Given the description of an element on the screen output the (x, y) to click on. 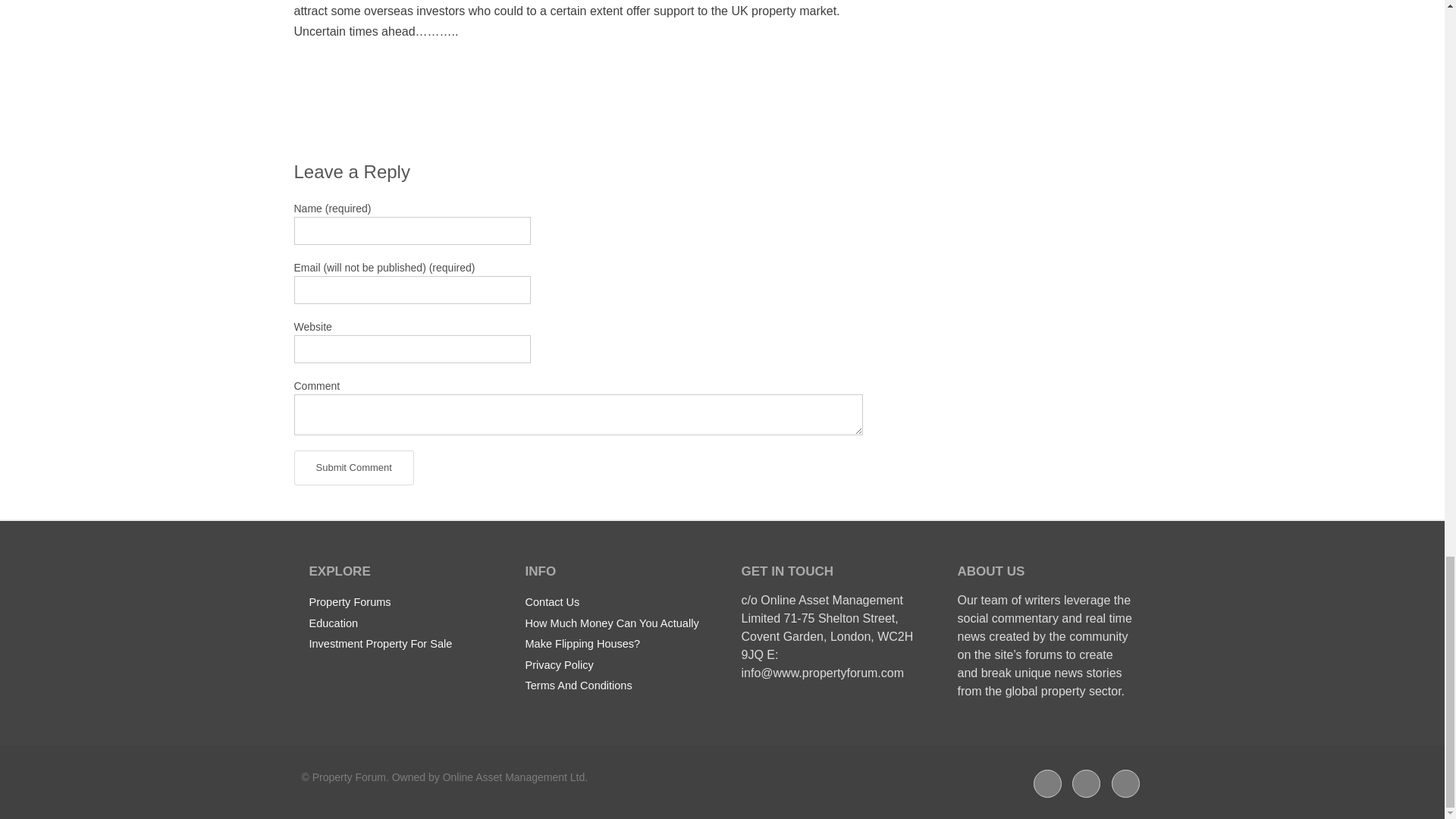
Terms And Conditions (577, 685)
Contact Us (551, 601)
Investment Property For Sale (380, 643)
Submit Comment (353, 467)
Privacy Policy (558, 664)
Education (333, 623)
Property Forums (349, 601)
How Much Money Can You Actually Make Flipping Houses? (611, 633)
Submit Comment (353, 467)
